Given the description of an element on the screen output the (x, y) to click on. 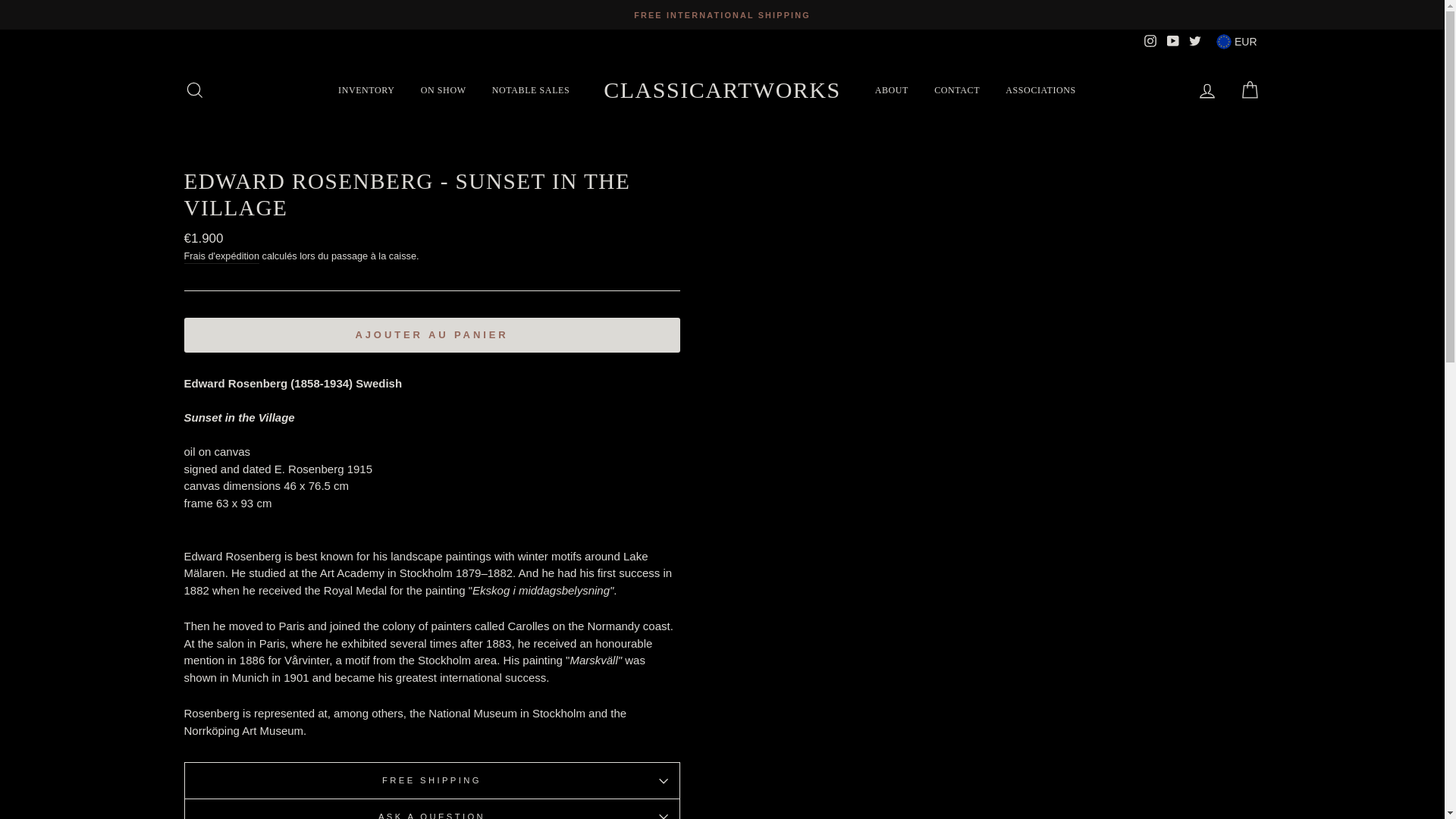
CLASSICARTWORKS sur Twitter (1195, 41)
CONTACT (957, 89)
ASK A QUESTION (431, 808)
FREE SHIPPING (431, 780)
PANIER (1249, 89)
EUR (1235, 41)
CLASSICARTWORKS sur Instagram (1150, 41)
RECHERCHER (194, 89)
YouTube (1172, 41)
CLASSICARTWORKS sur YouTube (1172, 41)
AJOUTER AU PANIER (431, 334)
FREE INTERNATIONAL SHIPPING (722, 14)
NOTABLE SALES (530, 89)
Instagram (1150, 41)
